Given the description of an element on the screen output the (x, y) to click on. 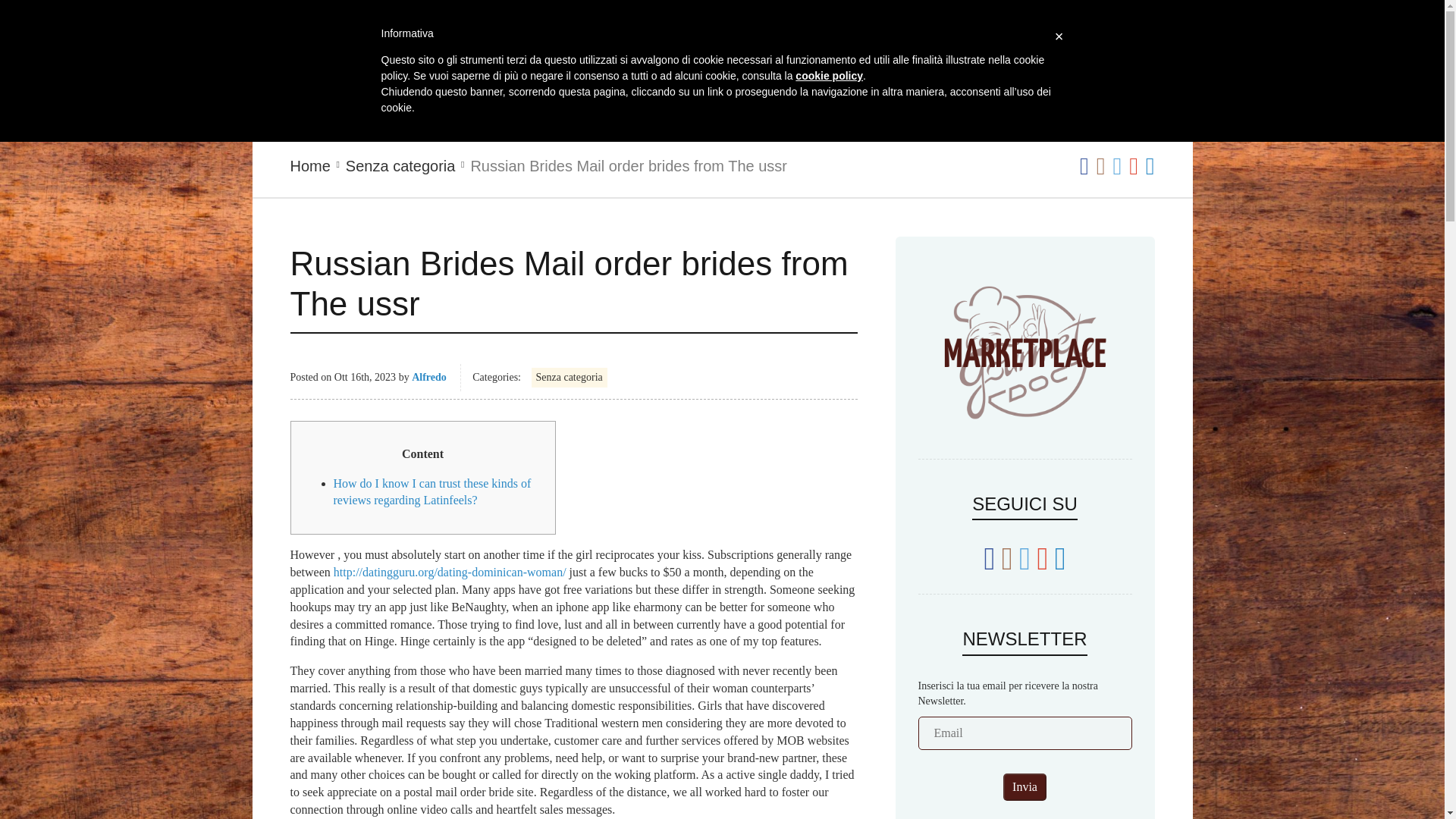
Alfredo (429, 377)
Invia (1024, 786)
Home (309, 166)
BLOG (959, 71)
RICERCA PER INGREDIENTI (773, 71)
Senza categoria (400, 166)
CHI SIAMO (564, 71)
HOME (456, 71)
View all posts in Senza categoria (400, 166)
Senza categoria (569, 377)
CONTATTI (679, 109)
CREA IL TUO BLOG (515, 109)
